Given the description of an element on the screen output the (x, y) to click on. 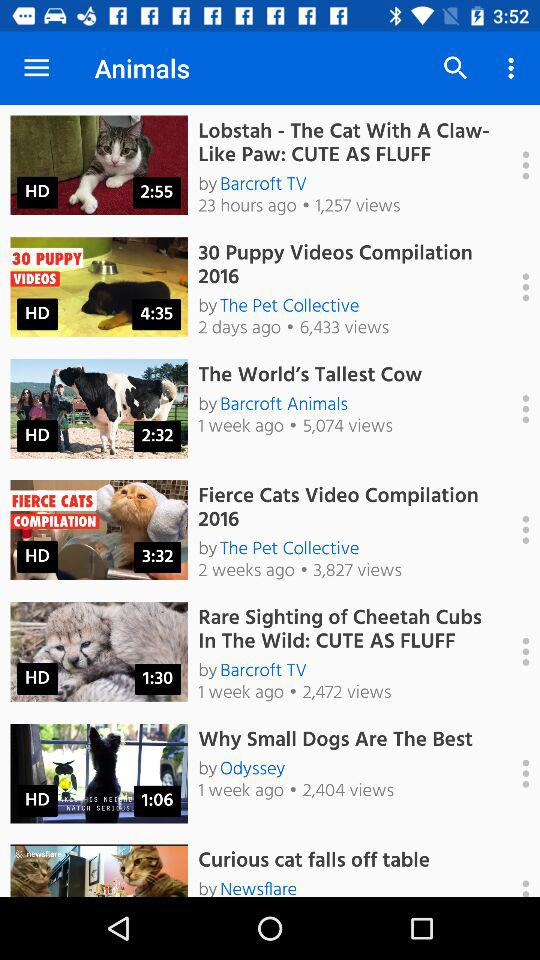
more options (515, 287)
